Given the description of an element on the screen output the (x, y) to click on. 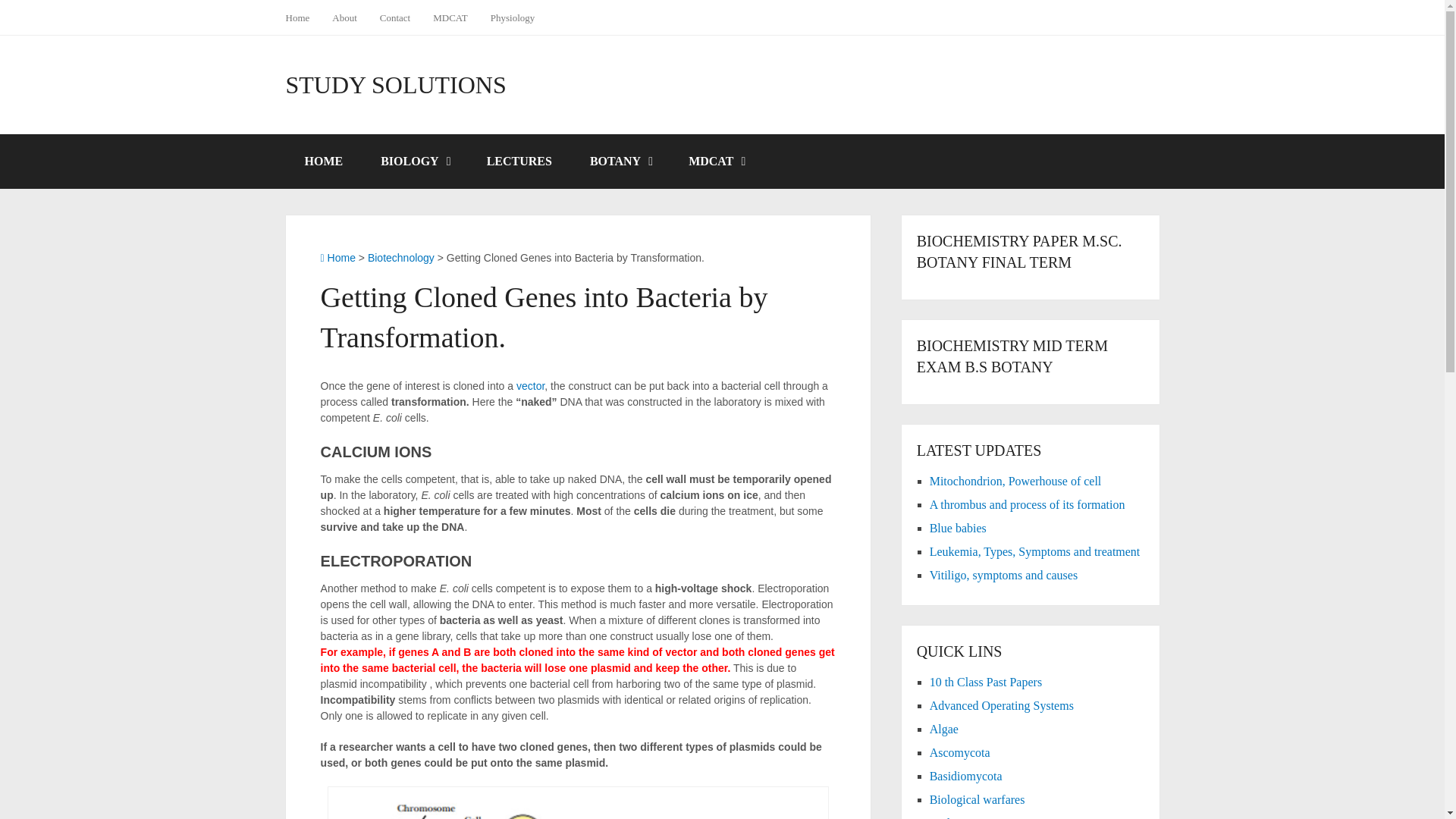
About (344, 17)
Physiology (513, 17)
Contact (395, 17)
MDCAT (450, 17)
Home (302, 17)
Blue babies (958, 527)
vector (530, 386)
MDCAT (715, 161)
LECTURES (518, 161)
A thrombus and process of its formation (1027, 504)
